Given the description of an element on the screen output the (x, y) to click on. 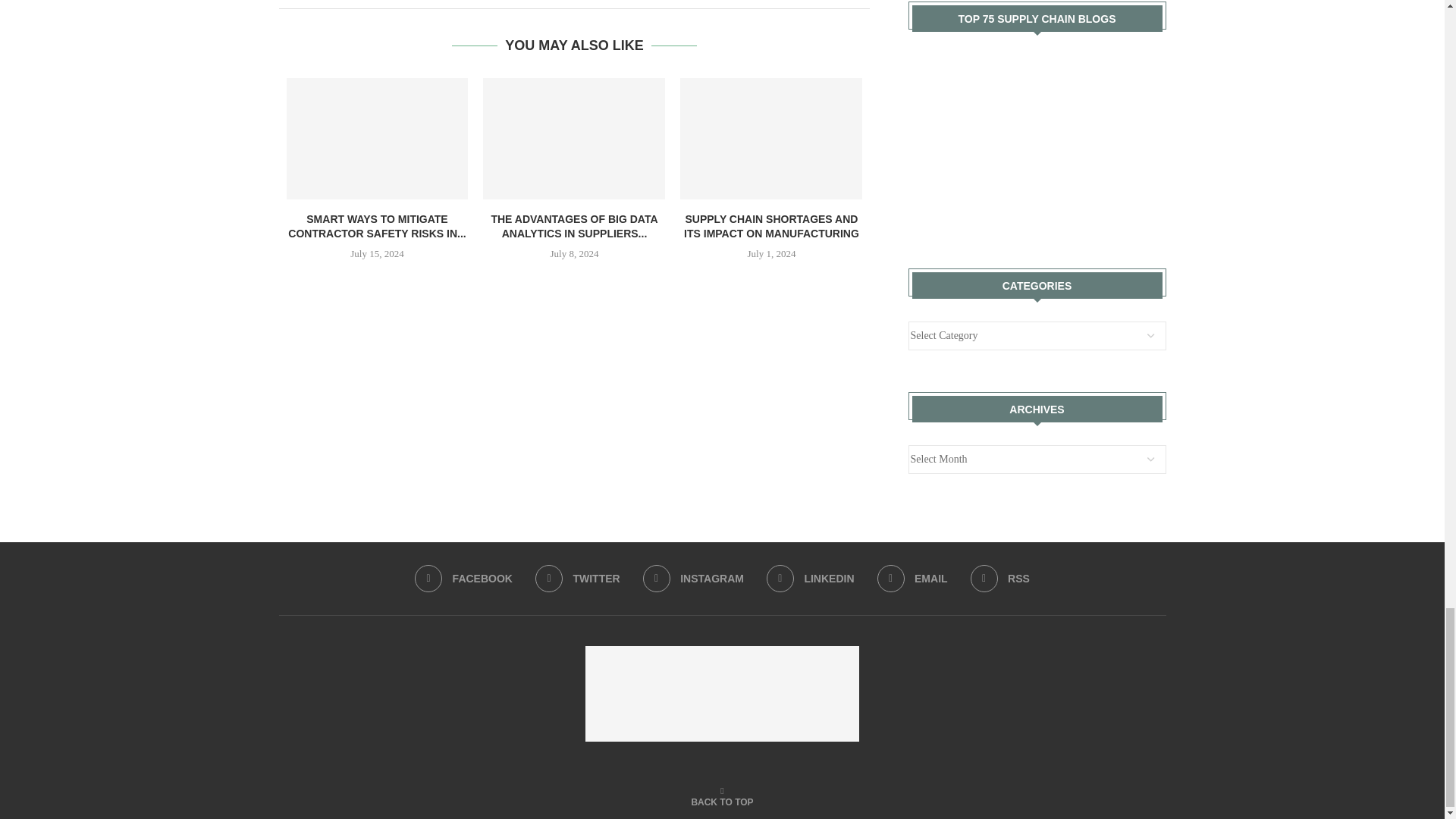
The Advantages of Big Data Analytics in Suppliers Management (574, 138)
Supply Chain Shortages And Its Impact On Manufacturing (770, 138)
